Given the description of an element on the screen output the (x, y) to click on. 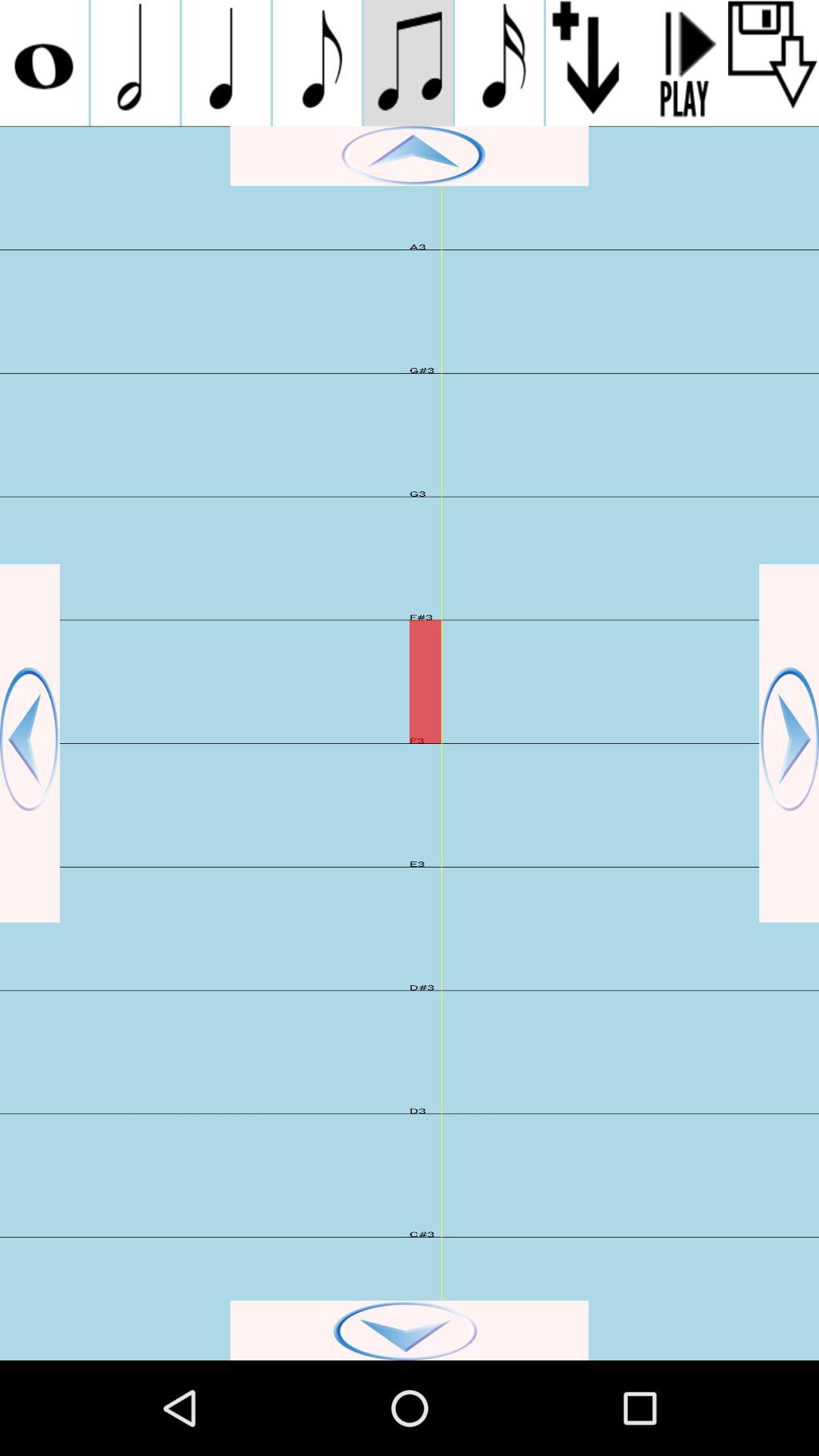
play (682, 63)
